Given the description of an element on the screen output the (x, y) to click on. 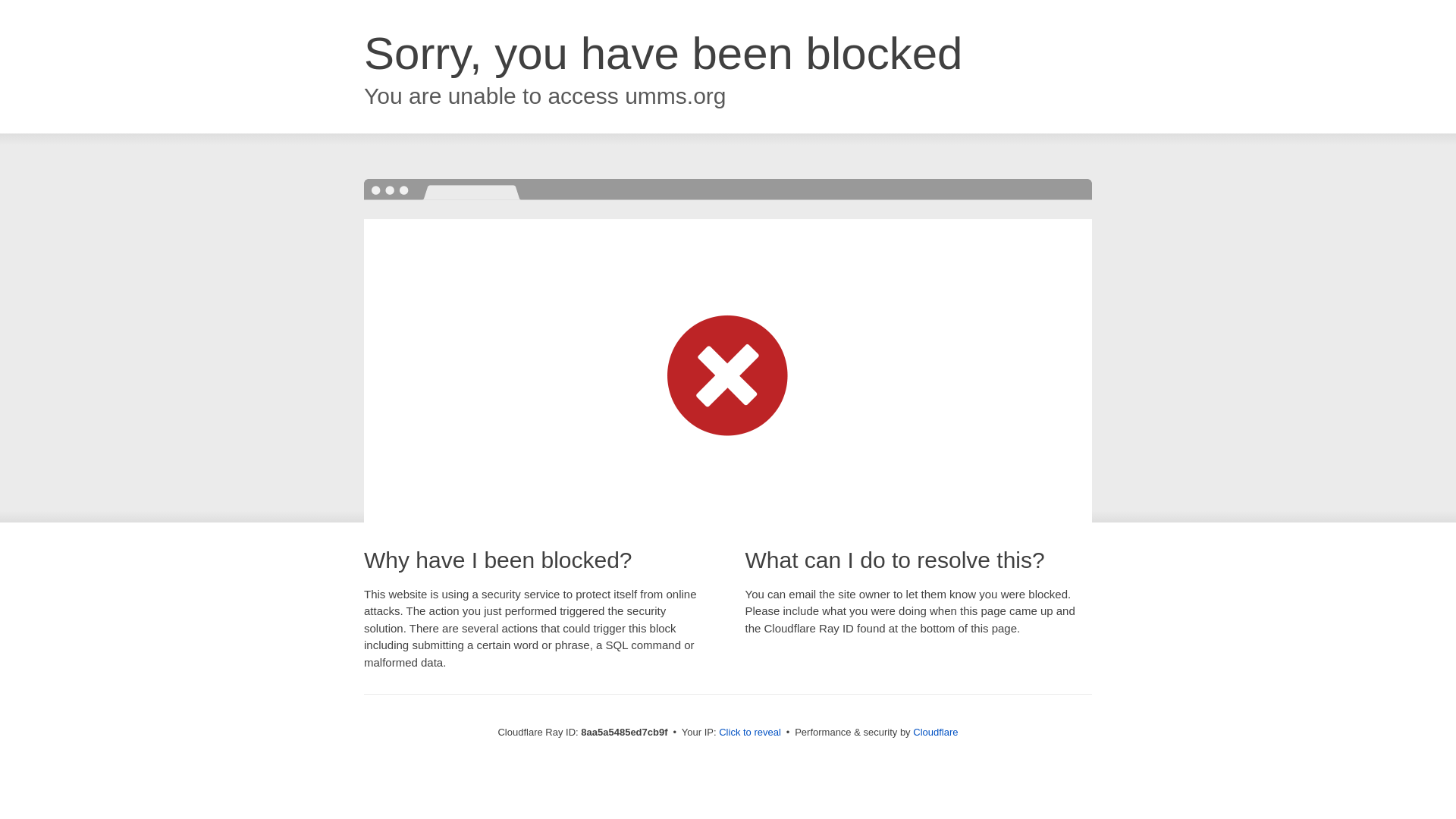
Cloudflare (935, 731)
Click to reveal (749, 732)
